Given the description of an element on the screen output the (x, y) to click on. 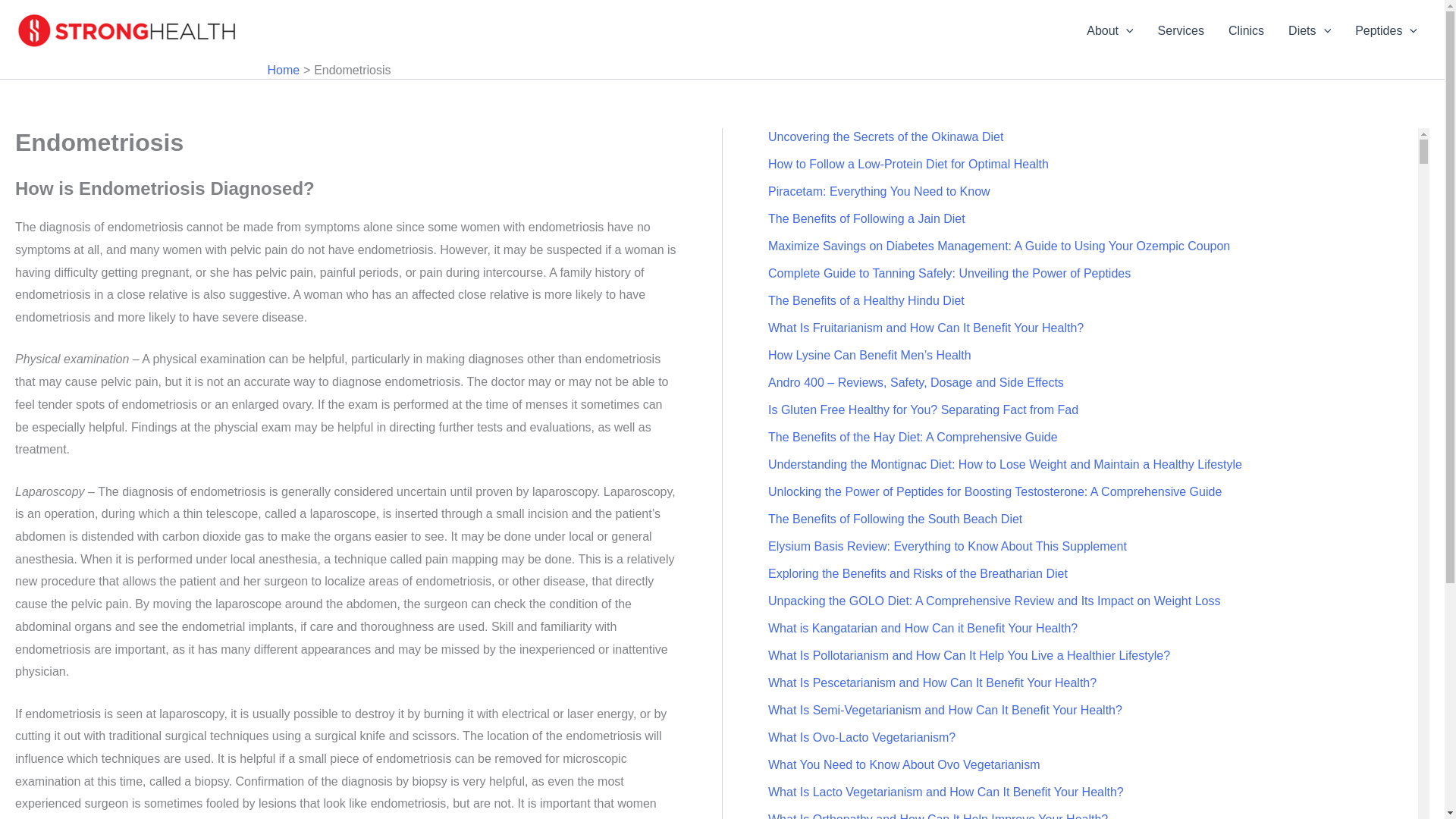
Services (1180, 30)
Diets (1309, 30)
Clinics (1245, 30)
Home (282, 69)
Peptides (1385, 30)
About (1109, 30)
Strong-Health-Logo - Strong Health (128, 30)
